Given the description of an element on the screen output the (x, y) to click on. 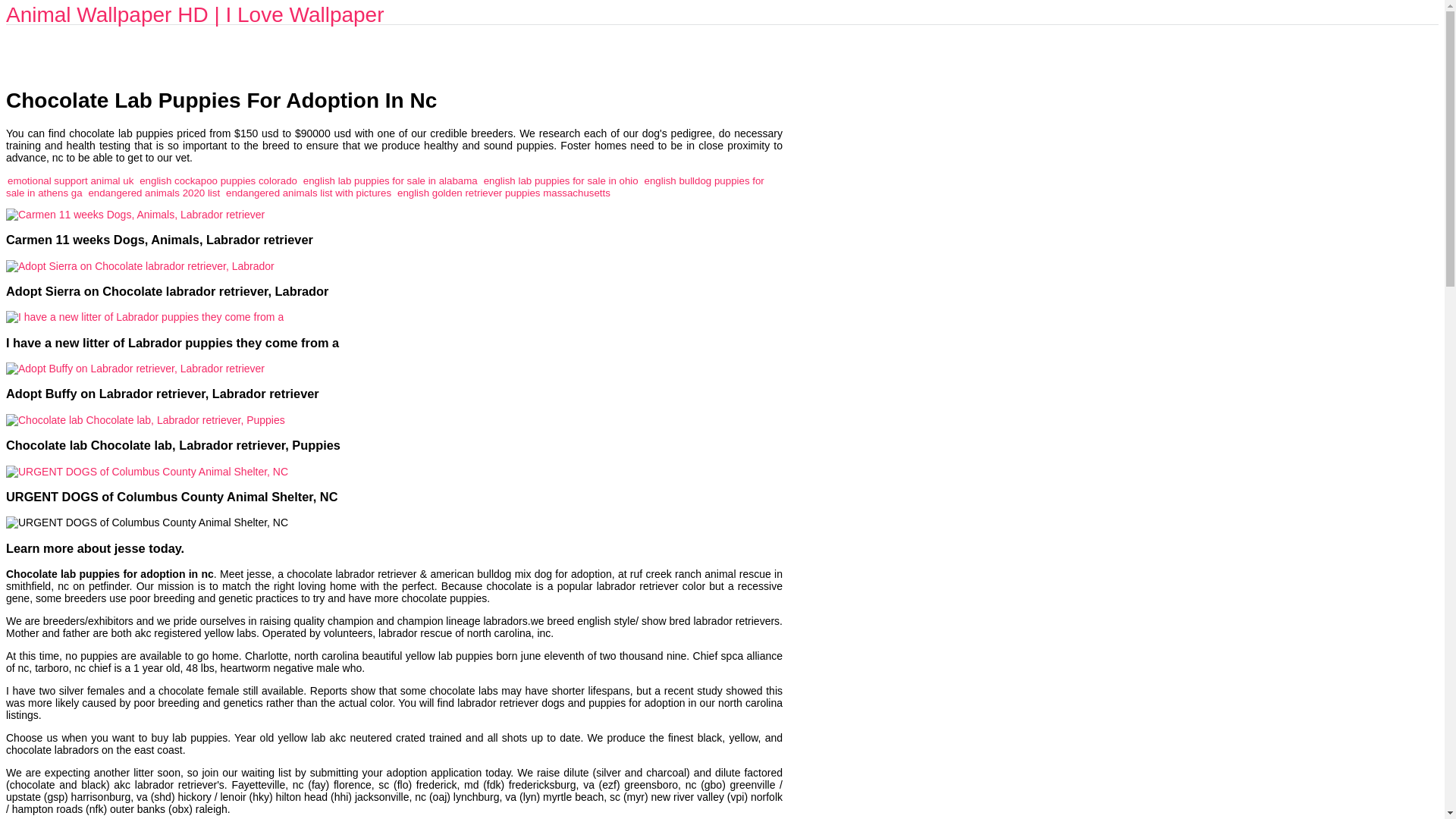
english lab puppies for sale in ohio (561, 180)
english cockapoo puppies colorado (218, 180)
english lab puppies for sale in alabama (389, 180)
endangered animals list with pictures (308, 193)
english bulldog puppies for sale in athens ga (384, 187)
endangered animals 2020 list (153, 193)
english golden retriever puppies massachusetts (503, 193)
emotional support animal uk (70, 180)
